Given the description of an element on the screen output the (x, y) to click on. 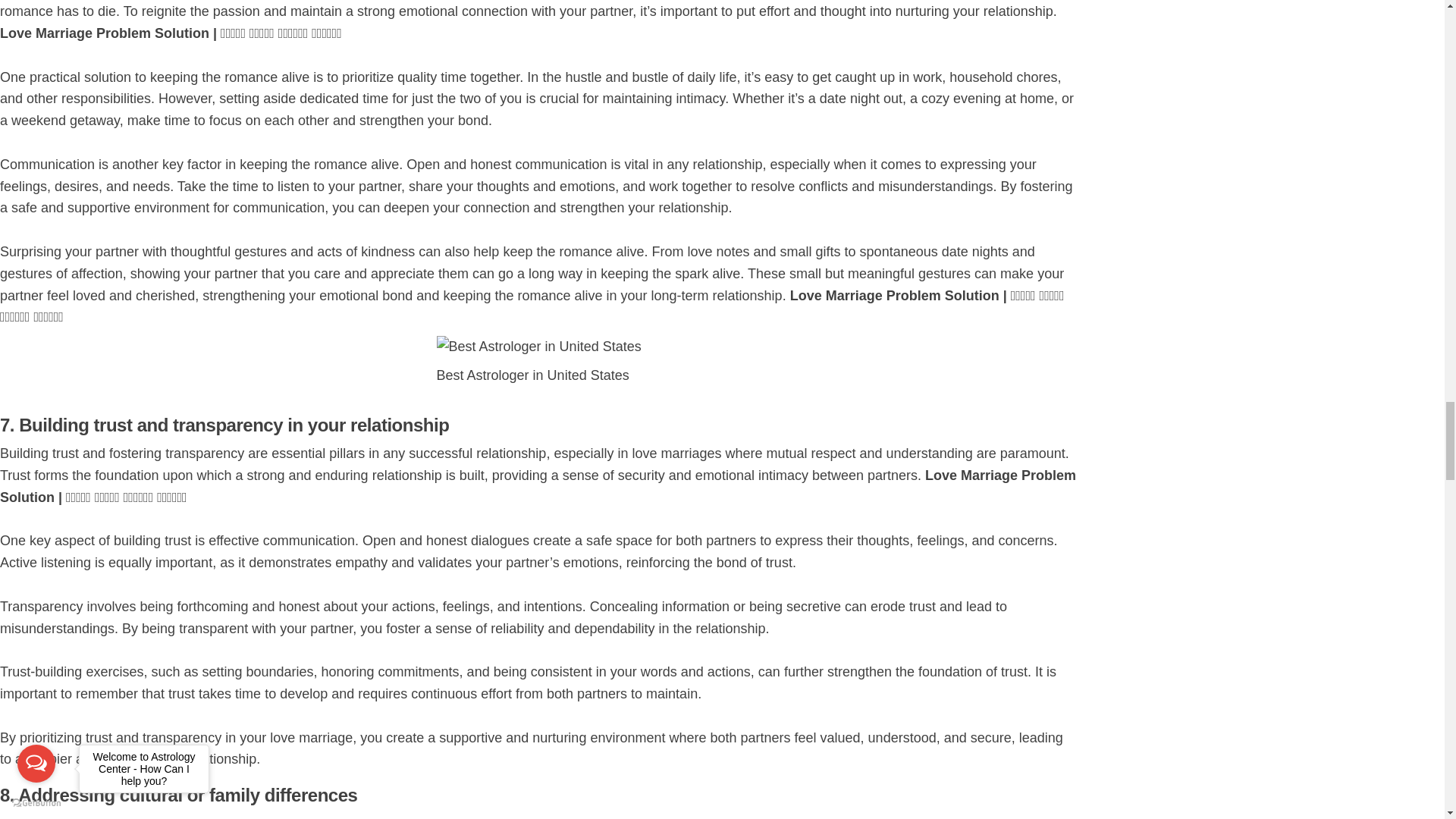
lead to misunderstandings (907, 817)
